Given the description of an element on the screen output the (x, y) to click on. 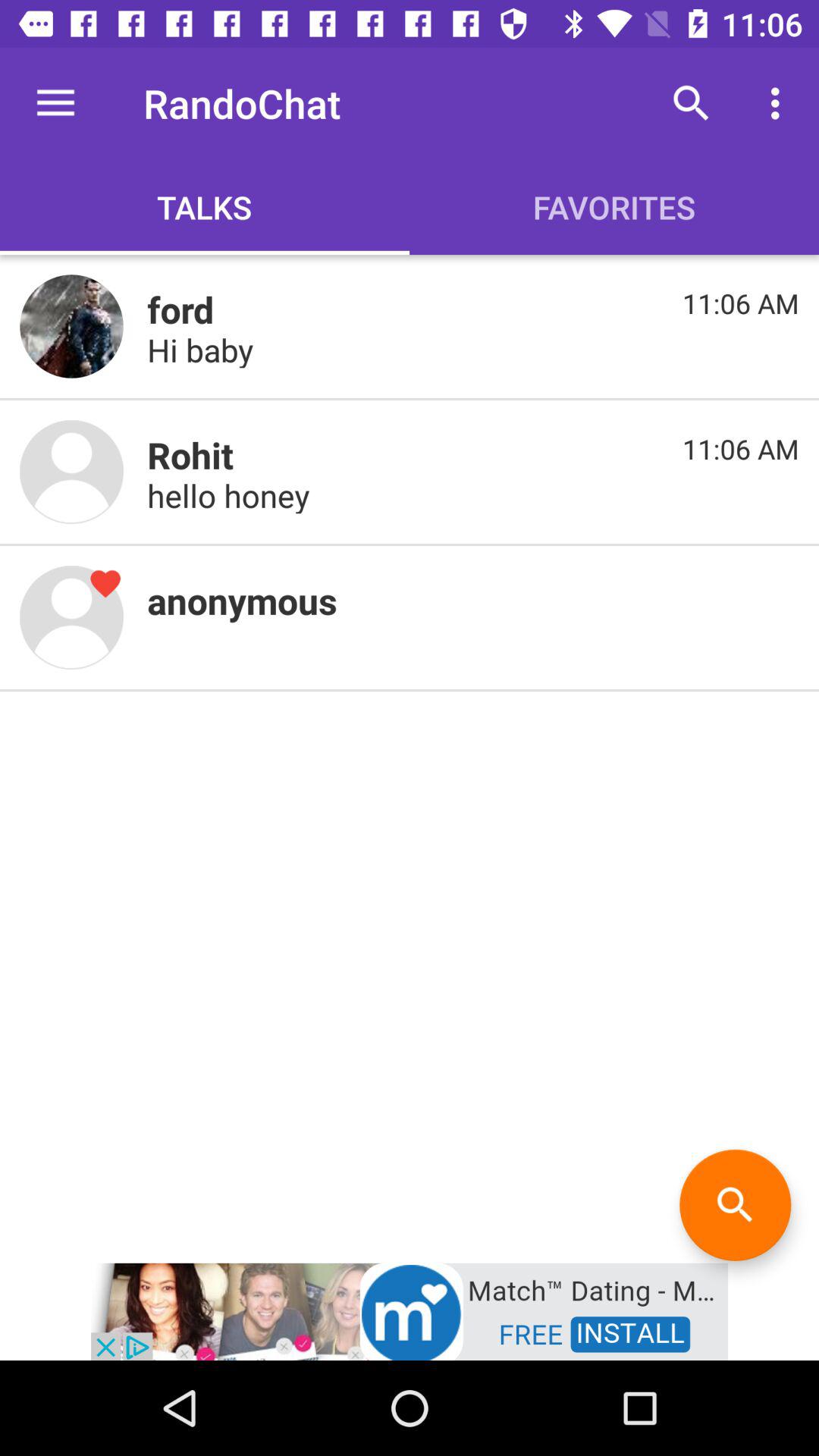
click advertisement (409, 1310)
